Given the description of an element on the screen output the (x, y) to click on. 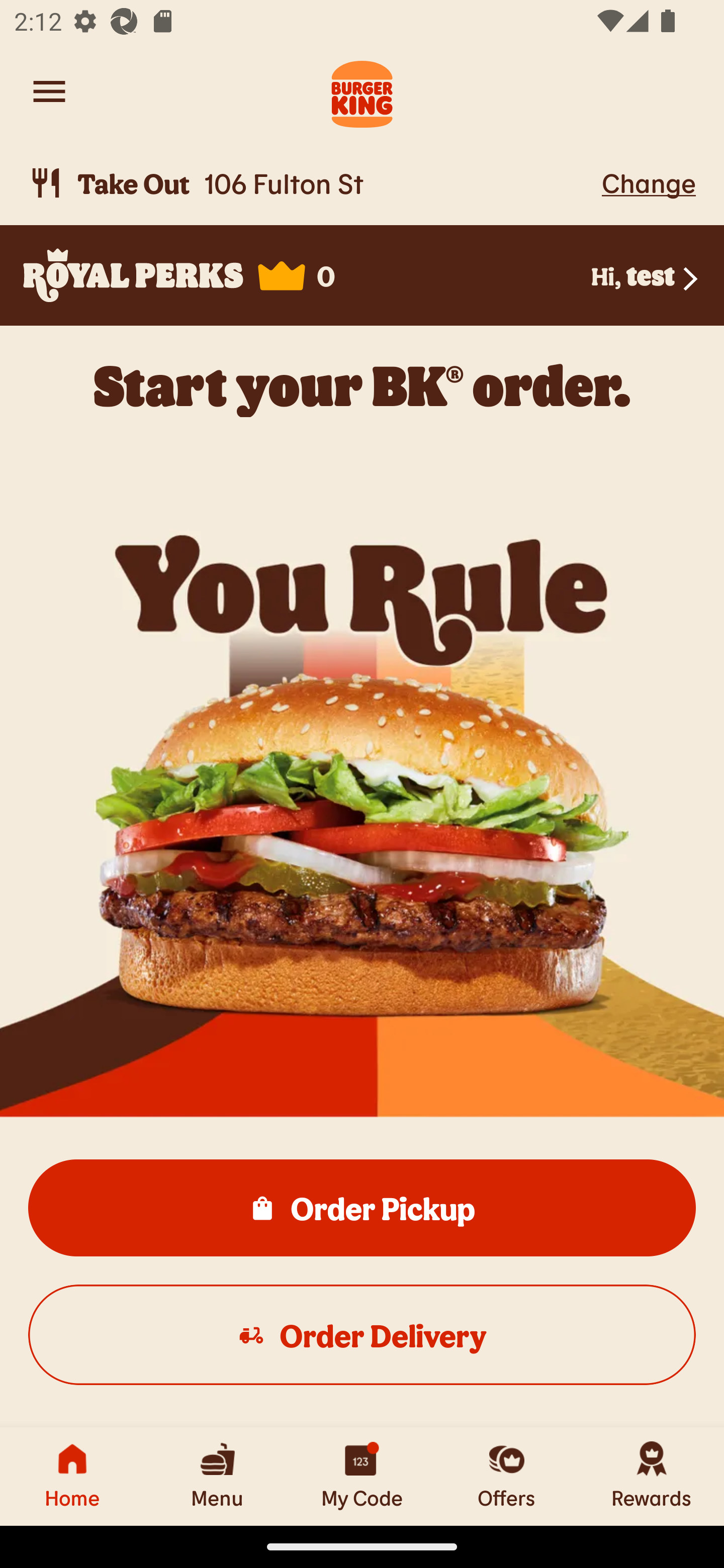
Burger King Logo. Navigate to Home (362, 91)
Navigate to account menu  (49, 91)
Take Out, 106 Fulton St  Take Out 106 Fulton St (311, 183)
Change (648, 182)
Start your BK® order. (361, 385)
, Order Pickup  Order Pickup (361, 1206)
, Order Delivery  Order Delivery (361, 1334)
Home (72, 1475)
Menu (216, 1475)
My Code (361, 1475)
Offers (506, 1475)
Rewards (651, 1475)
